Given the description of an element on the screen output the (x, y) to click on. 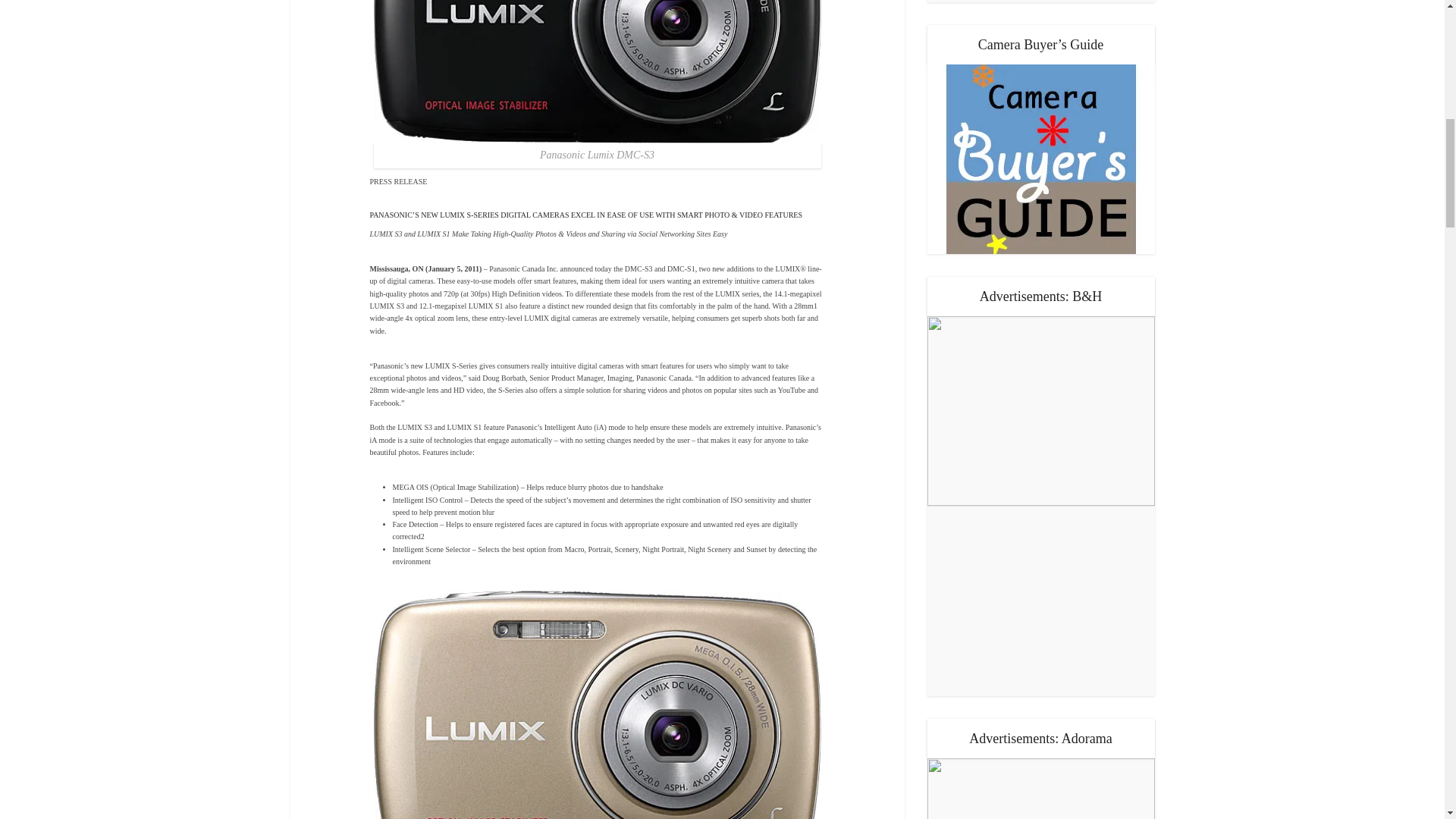
Panasonic Lumix DMC-S3 (596, 8)
Panasonic Lumix DMC-S1 (596, 723)
